Given the description of an element on the screen output the (x, y) to click on. 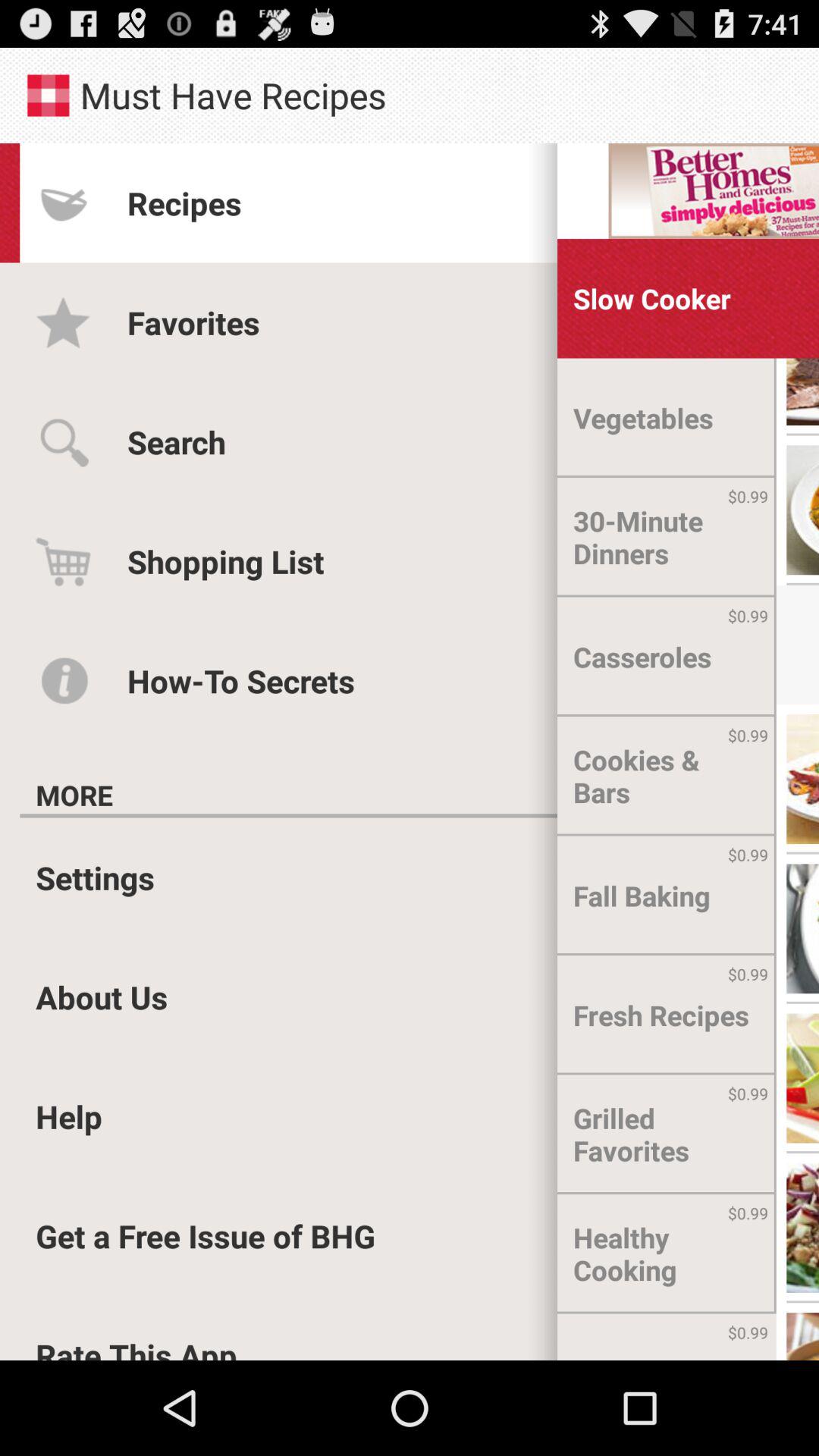
scroll to how-to secrets app (240, 680)
